Given the description of an element on the screen output the (x, y) to click on. 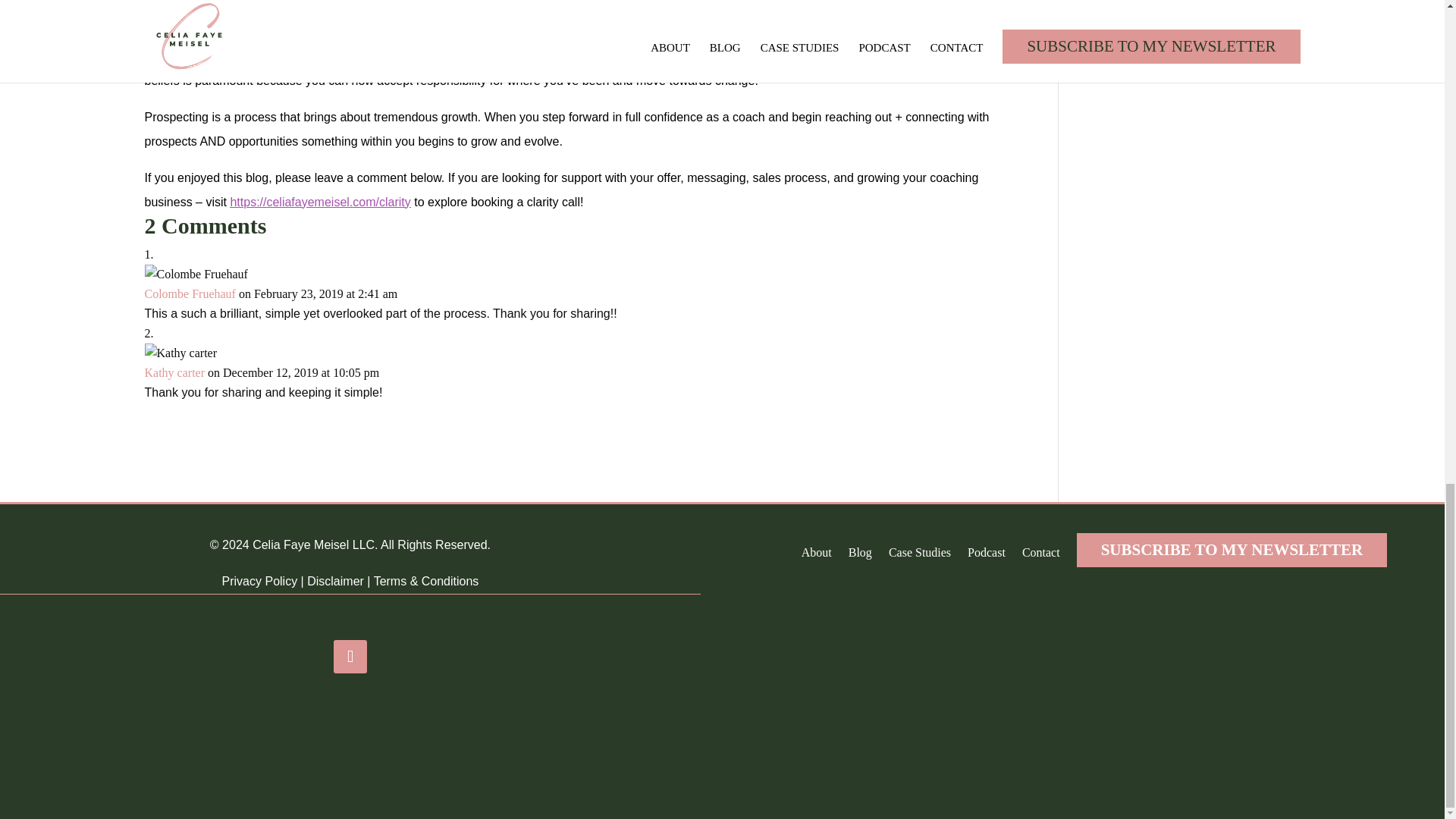
Privacy Policy (260, 581)
Follow on LinkedIn (349, 656)
Colombe Fruehauf (189, 292)
Case Studies (919, 549)
Podcast (987, 549)
Contact (1040, 549)
Disclaimer (335, 581)
Blog (860, 549)
Kathy carter (174, 371)
SUBSCRIBE TO MY NEWSLETTER (1232, 550)
About (816, 549)
